Given the description of an element on the screen output the (x, y) to click on. 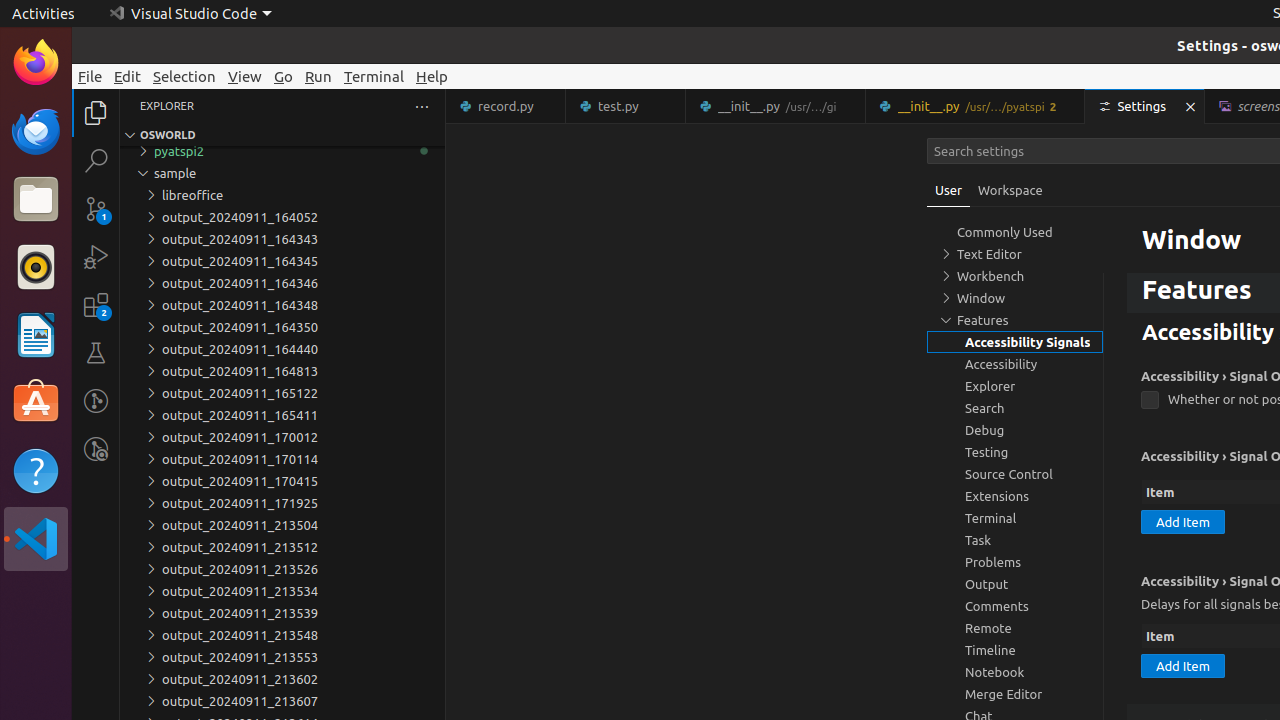
output_20240911_165411 Element type: tree-item (282, 415)
Text Editor, group Element type: tree-item (1015, 254)
output_20240911_213504 Element type: tree-item (282, 525)
Terminal Element type: push-button (374, 76)
View Element type: push-button (245, 76)
